Given the description of an element on the screen output the (x, y) to click on. 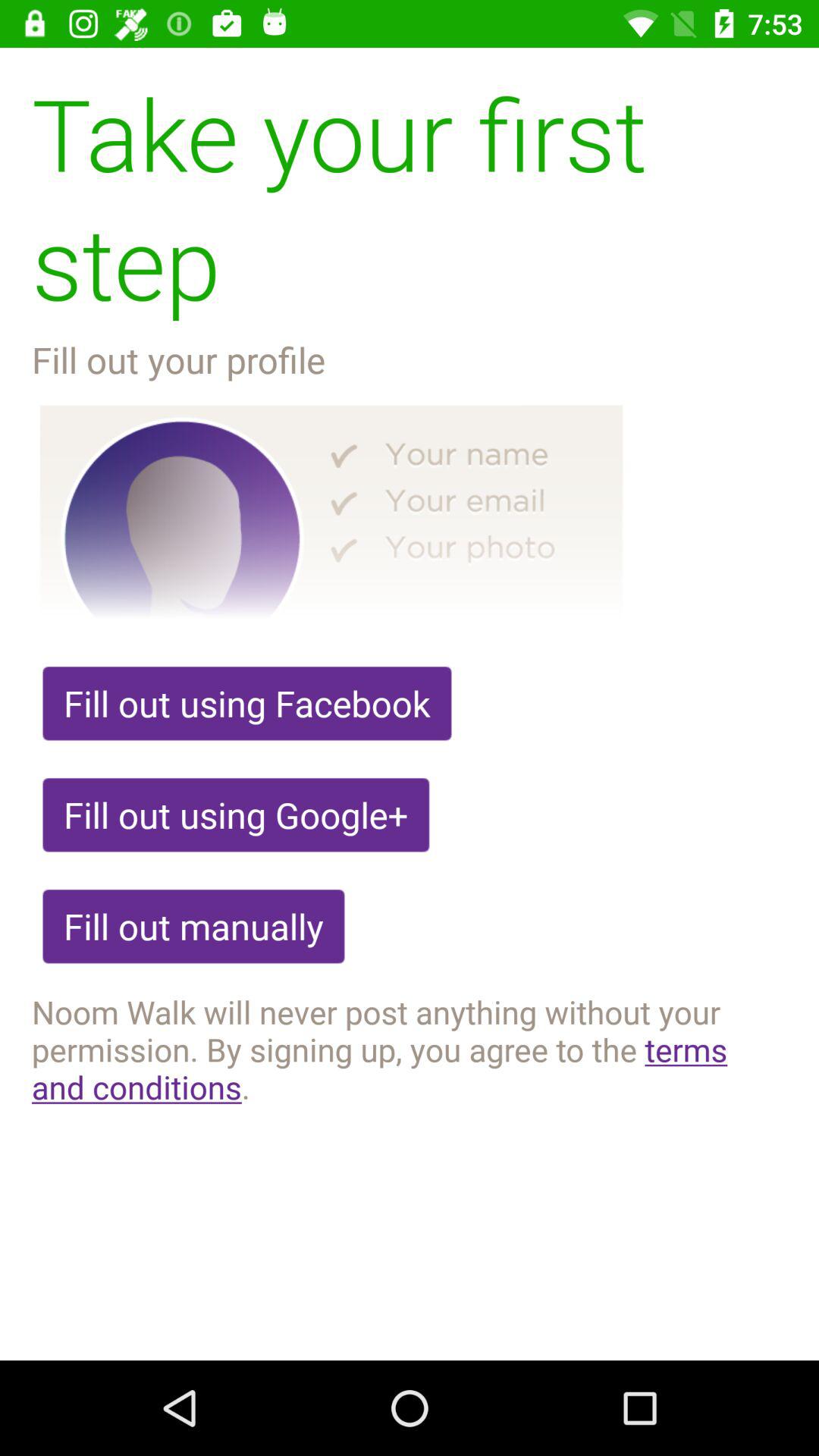
launch the noom walk will (409, 1049)
